Given the description of an element on the screen output the (x, y) to click on. 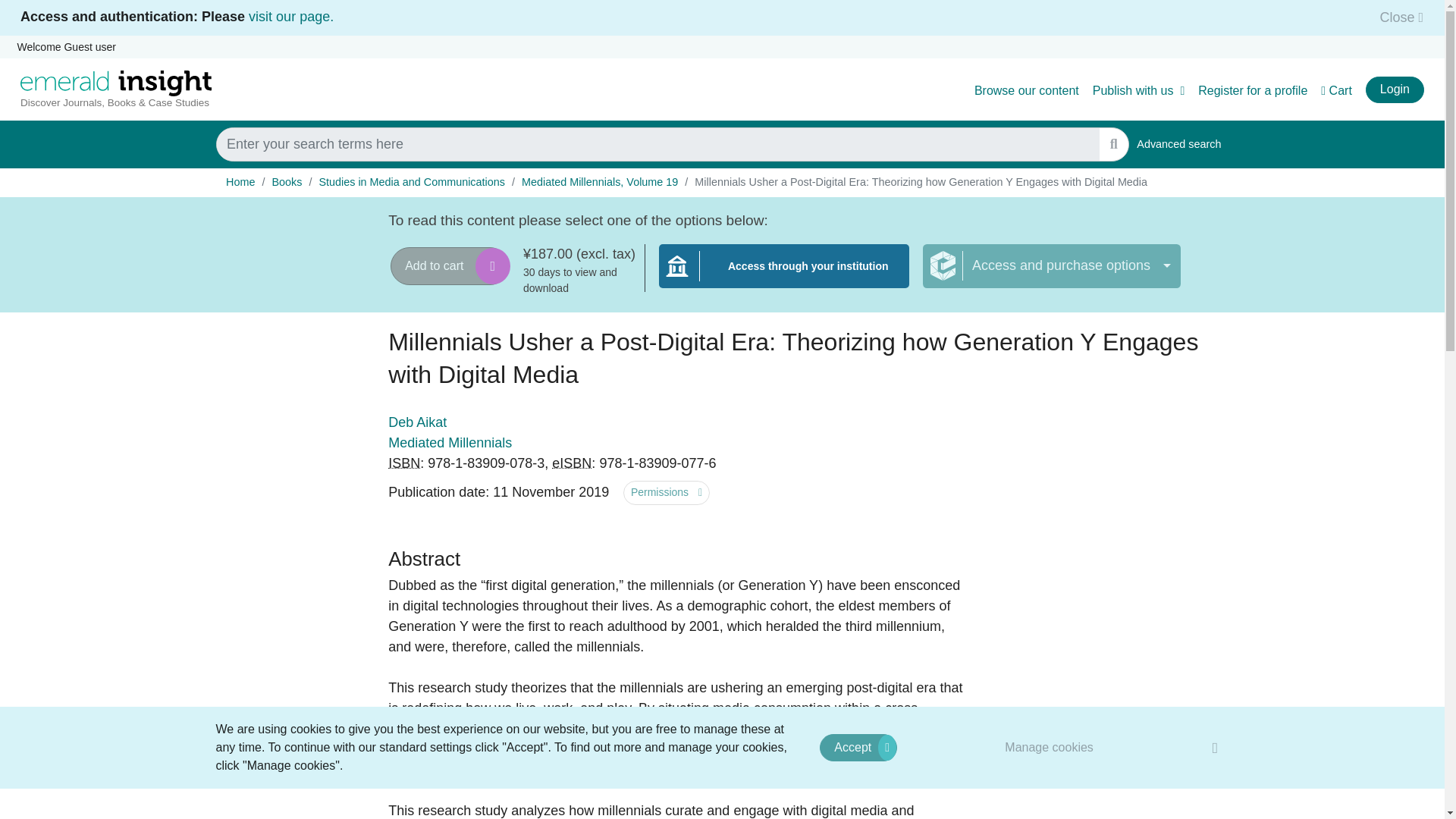
Browse our content (1026, 90)
visit our page. (290, 16)
Access through your institution (783, 275)
Close (1397, 17)
International Standard Book Number. (404, 462)
Register for a profile (1252, 90)
Accept (857, 747)
SUBMIT (1113, 143)
